Given the description of an element on the screen output the (x, y) to click on. 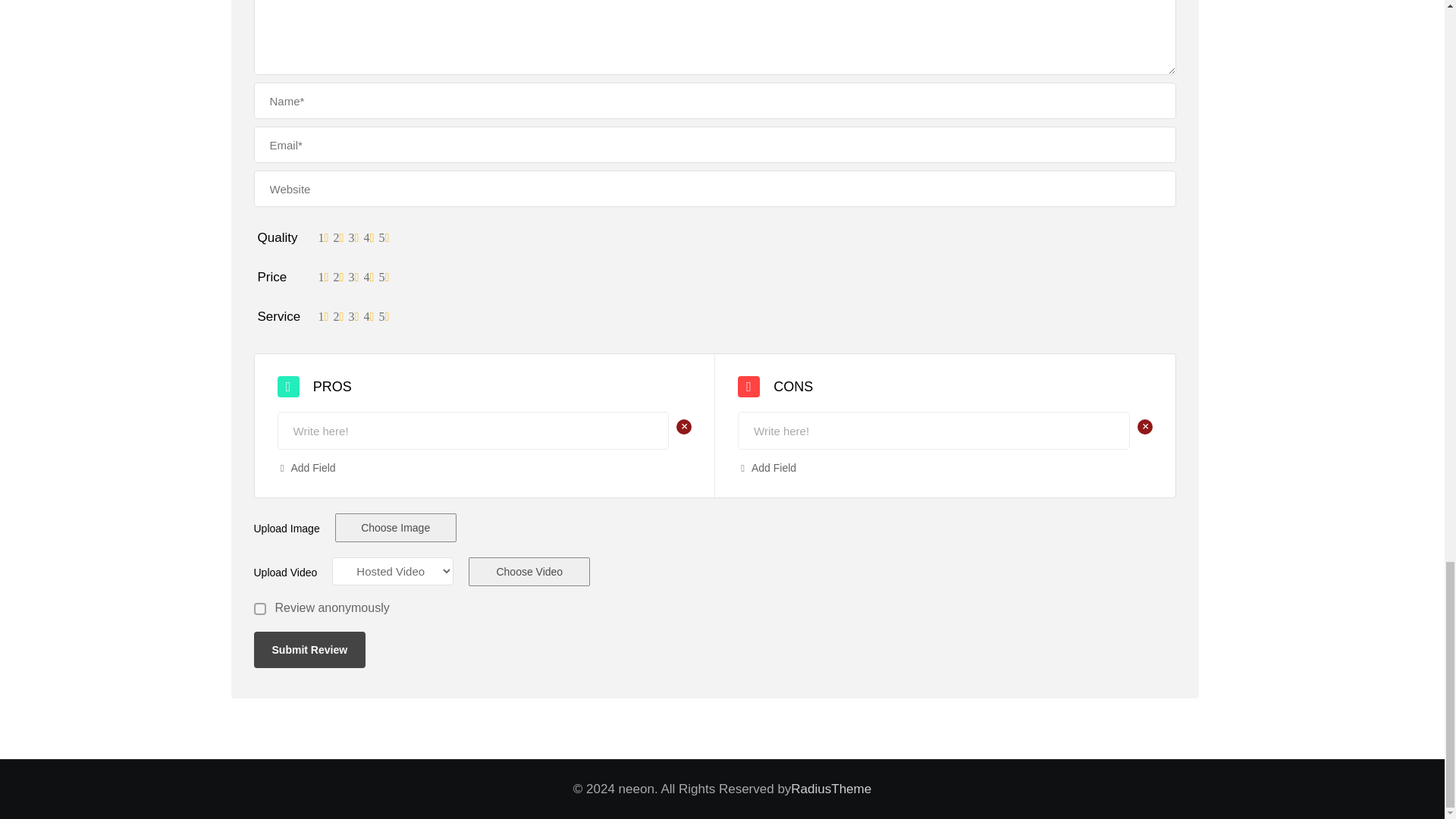
RadiusTheme (830, 789)
Submit Review (309, 649)
Submit Review (309, 649)
